Given the description of an element on the screen output the (x, y) to click on. 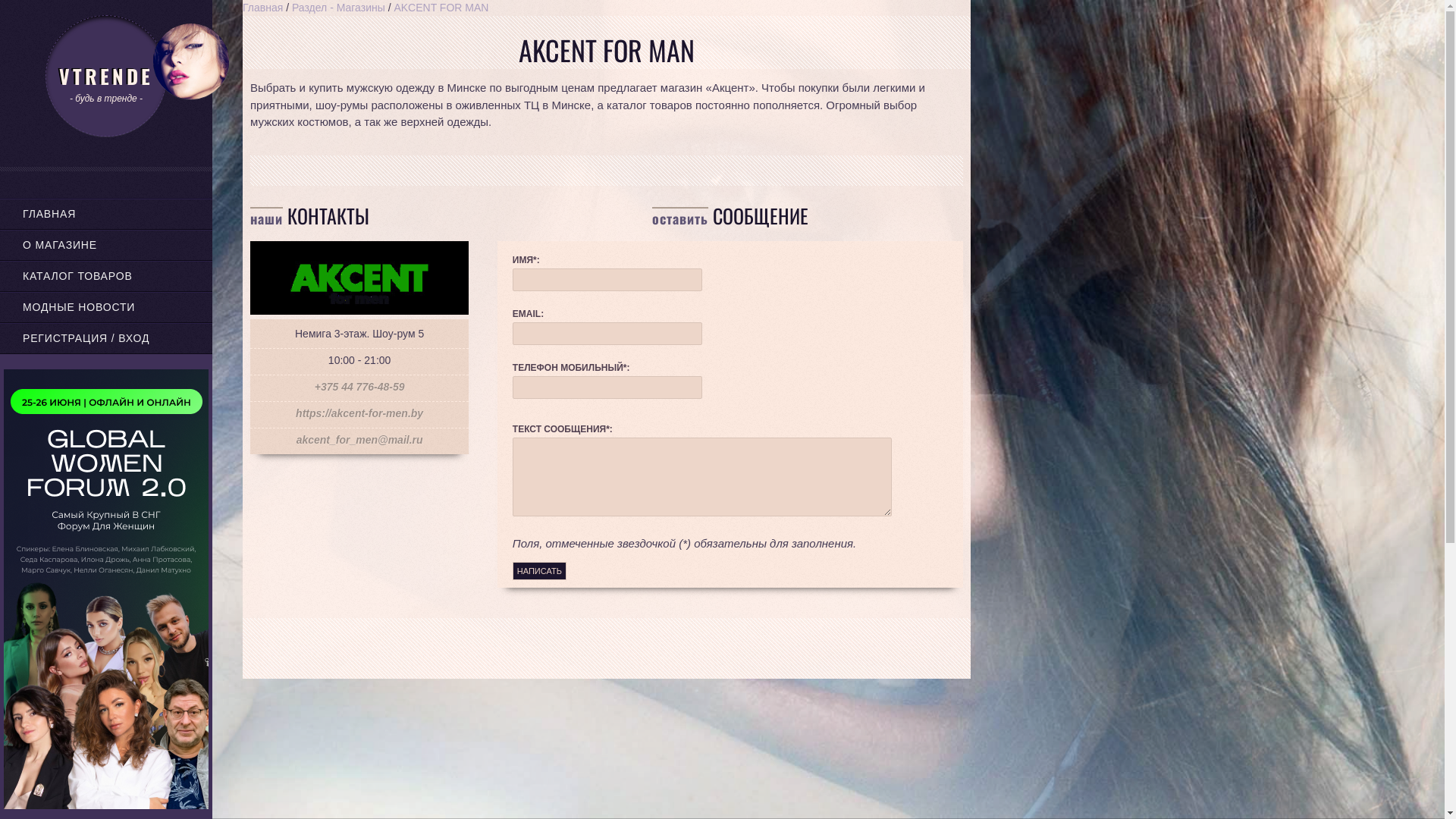
https://akcent-for-men.by Element type: text (359, 413)
akcent_for_men@mail.ru Element type: text (359, 439)
AKCENT FOR MAN Element type: text (440, 7)
+375 44 776-48-59 Element type: text (359, 386)
VTRENDE Element type: text (105, 75)
